Given the description of an element on the screen output the (x, y) to click on. 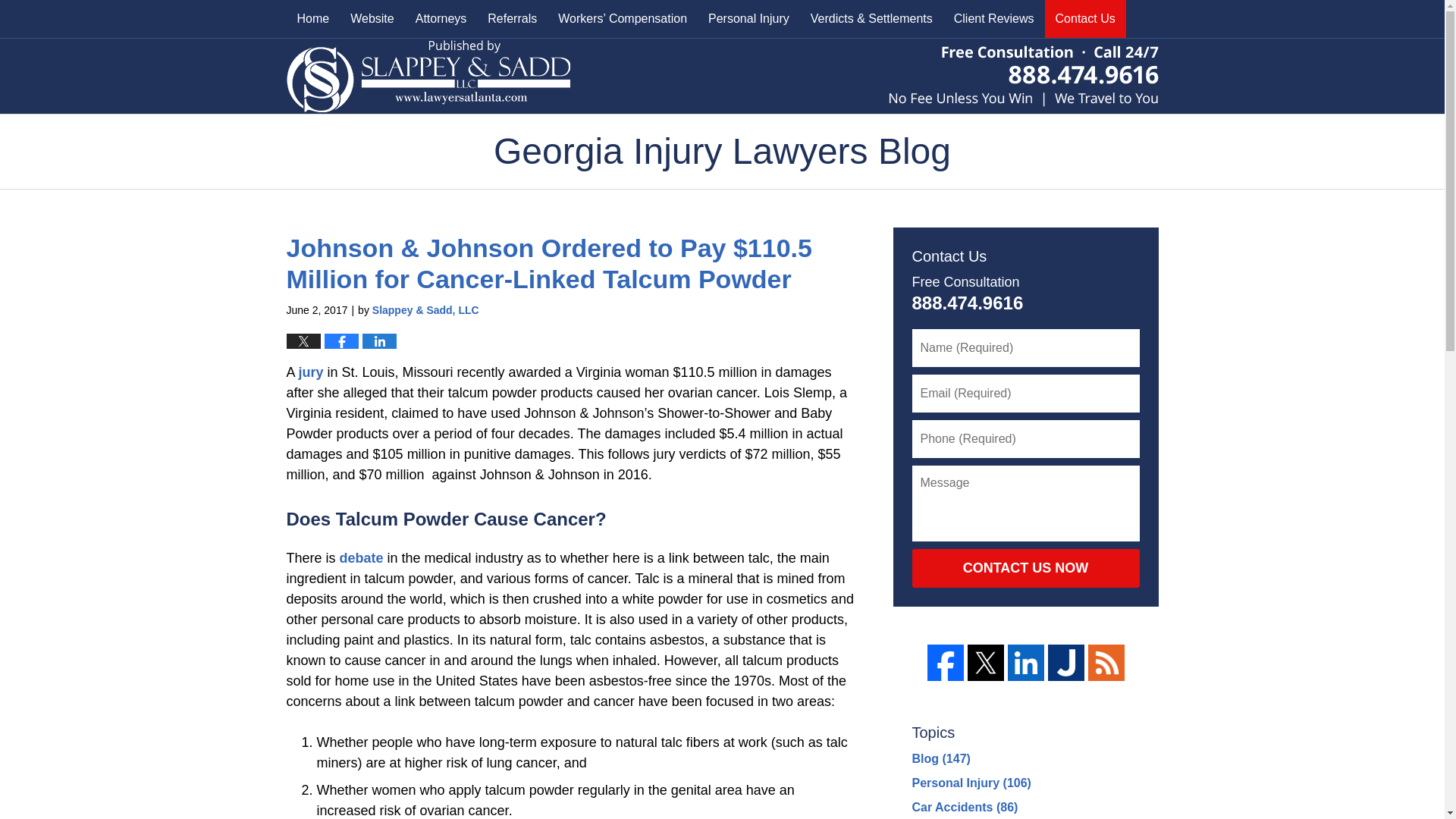
Attorneys (440, 18)
Twitter (986, 662)
Georgia Injury Lawyers Blog (428, 75)
CONTACT US NOW (1024, 568)
jury (310, 372)
Contact Us (1085, 18)
Feed (1105, 662)
Please enter a valid phone number. (1024, 438)
Website (371, 18)
Facebook (944, 662)
debate (361, 557)
Referrals (512, 18)
LinkedIn (1025, 662)
Justia (1066, 662)
Personal Injury (748, 18)
